Given the description of an element on the screen output the (x, y) to click on. 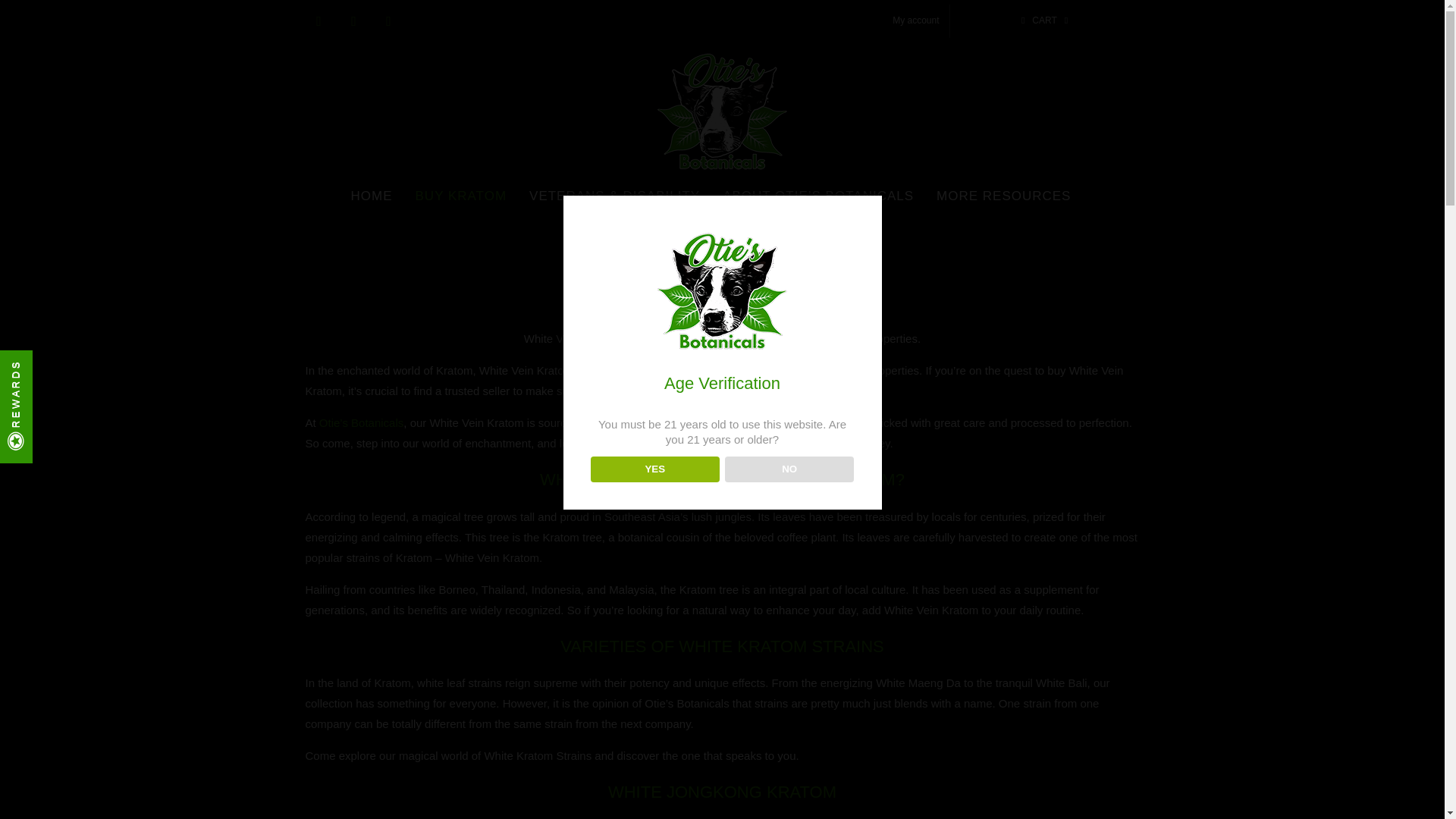
BUY KRATOM (460, 195)
Send Us An Email! (352, 21)
Join Our Facebook Group! (317, 21)
My account (915, 20)
HOME (371, 195)
CART (1045, 20)
Text Us! (387, 21)
Search (778, 225)
